Given the description of an element on the screen output the (x, y) to click on. 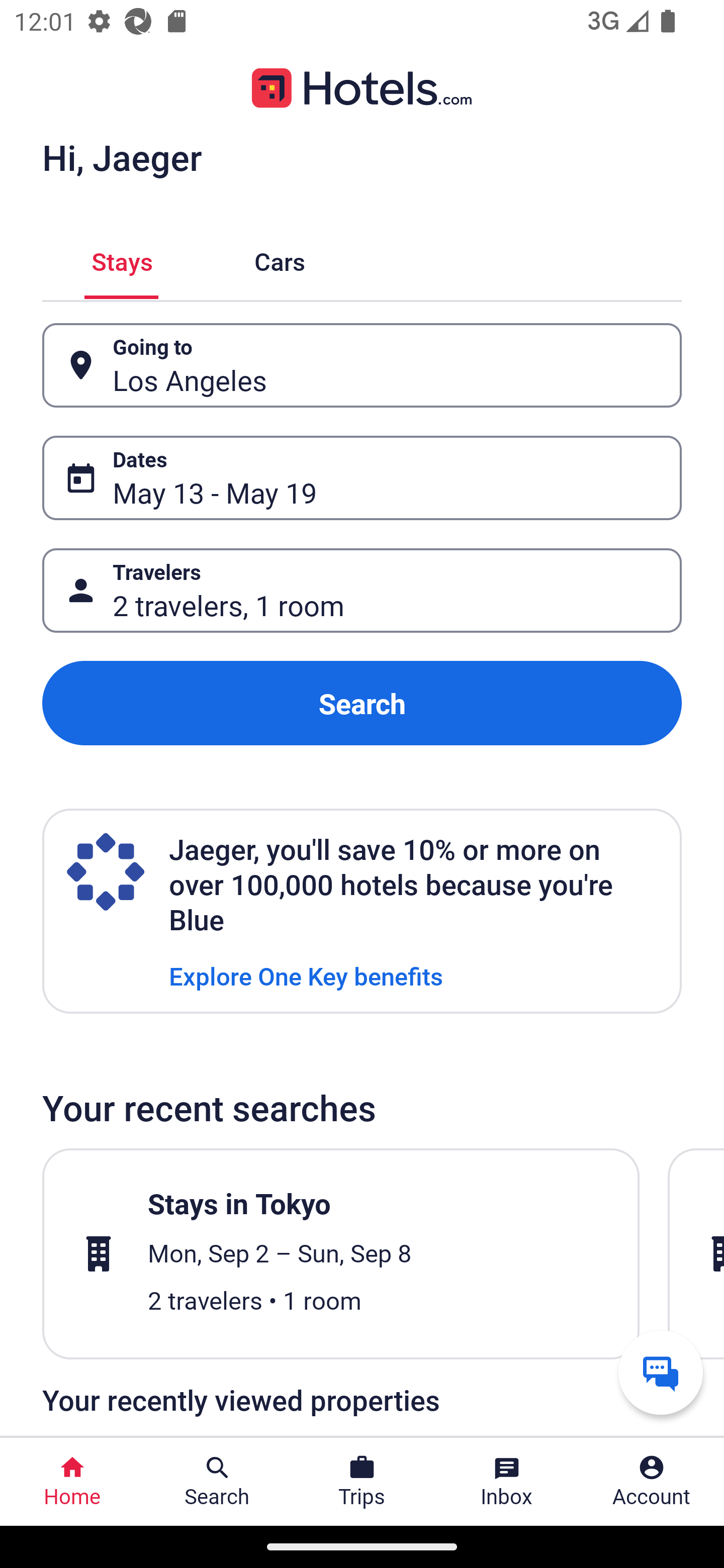
Hi, Jaeger (121, 156)
Cars (279, 259)
Going to Button Los Angeles (361, 365)
Dates Button May 13 - May 19 (361, 477)
Travelers Button 2 travelers, 1 room (361, 590)
Search (361, 702)
Get help from a virtual agent (660, 1371)
Search Search Button (216, 1481)
Trips Trips Button (361, 1481)
Inbox Inbox Button (506, 1481)
Account Profile. Button (651, 1481)
